Given the description of an element on the screen output the (x, y) to click on. 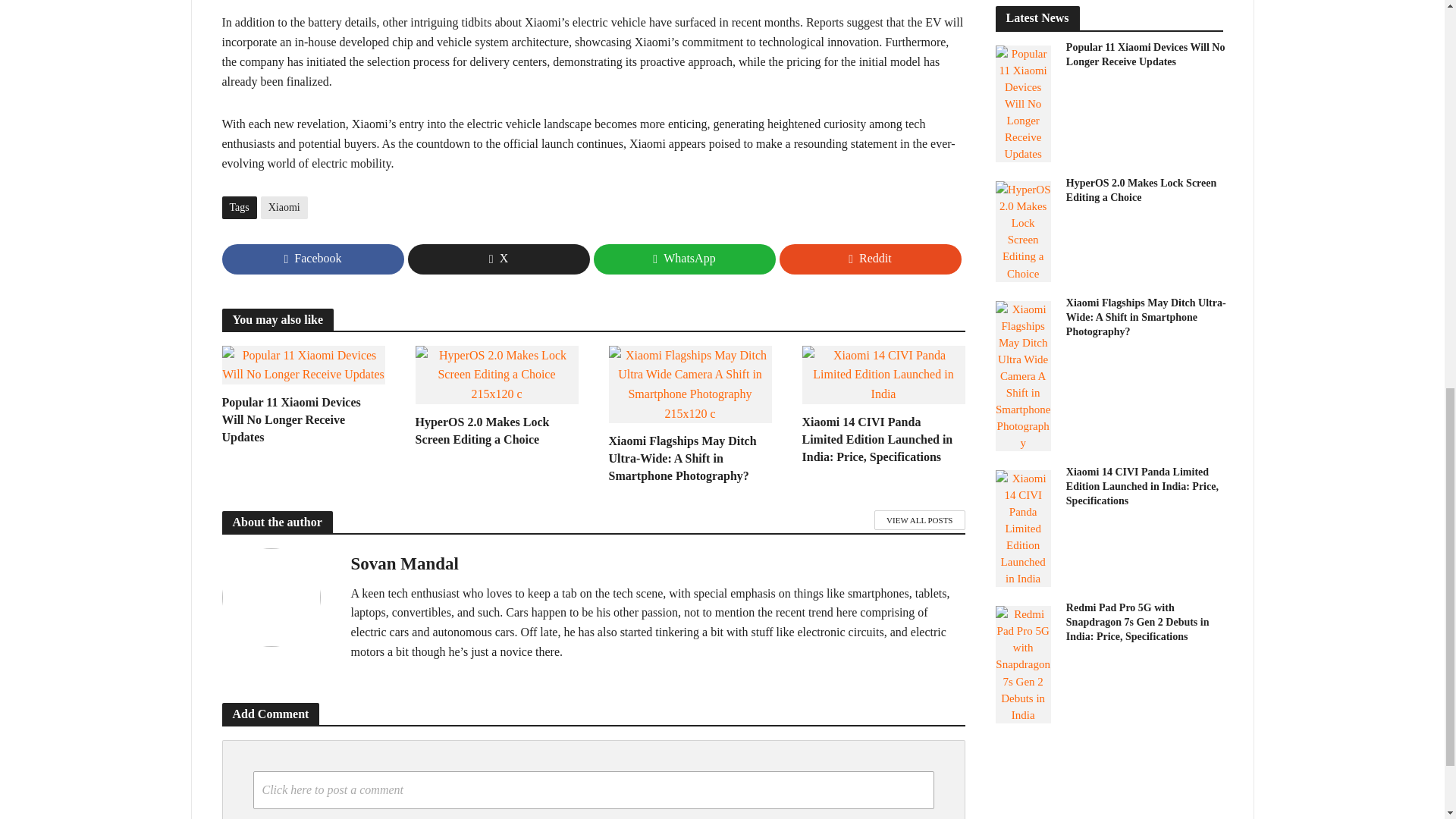
WhatsApp (683, 259)
HyperOS 2.0 Makes Lock Screen Editing a Choice (496, 373)
HyperOS 2.0 Makes Lock Screen Editing a Choice (496, 430)
Popular 11 Xiaomi Devices Will No Longer Receive Updates (302, 419)
X (498, 259)
Popular 11 Xiaomi Devices Will No Longer Receive Updates (302, 363)
Reddit (869, 259)
Xiaomi (283, 207)
Facebook (312, 259)
